Given the description of an element on the screen output the (x, y) to click on. 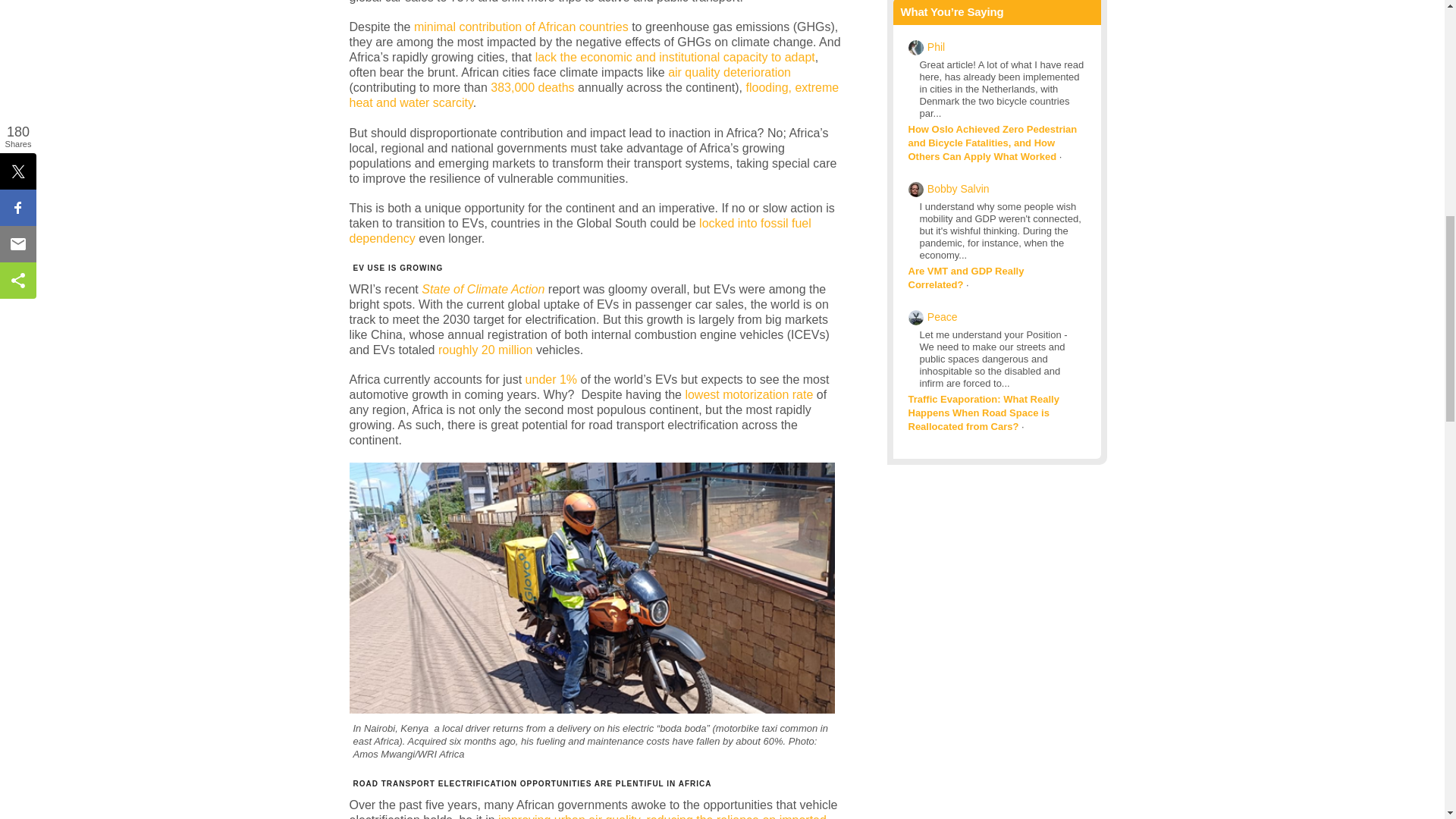
Phil (935, 47)
Bobby Salvin (958, 188)
Are VMT and GDP Really Correlated? (966, 277)
